Given the description of an element on the screen output the (x, y) to click on. 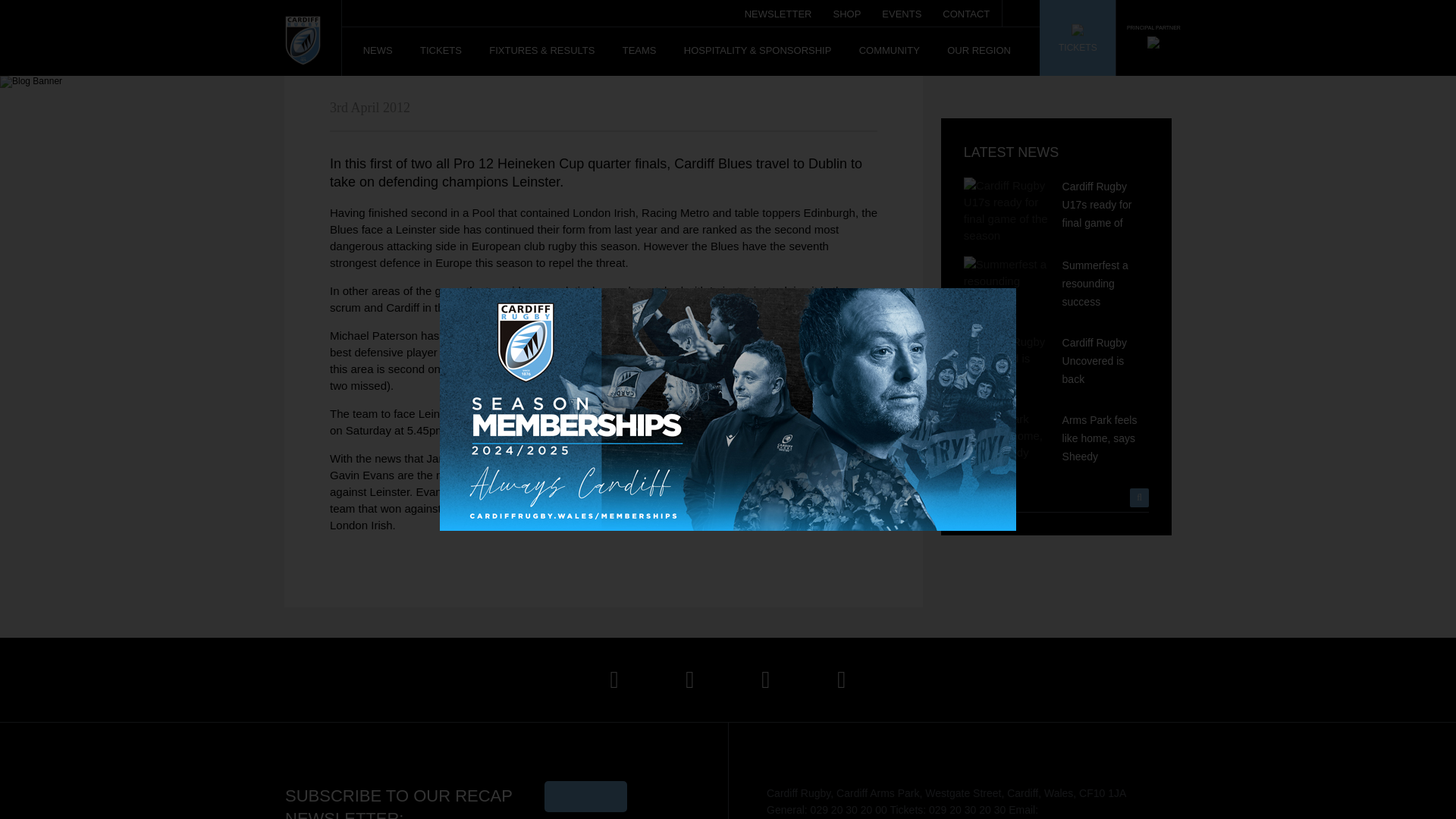
CONTACT (966, 9)
SHOP (846, 9)
NEWSLETTER (778, 9)
EVENTS (901, 9)
